Given the description of an element on the screen output the (x, y) to click on. 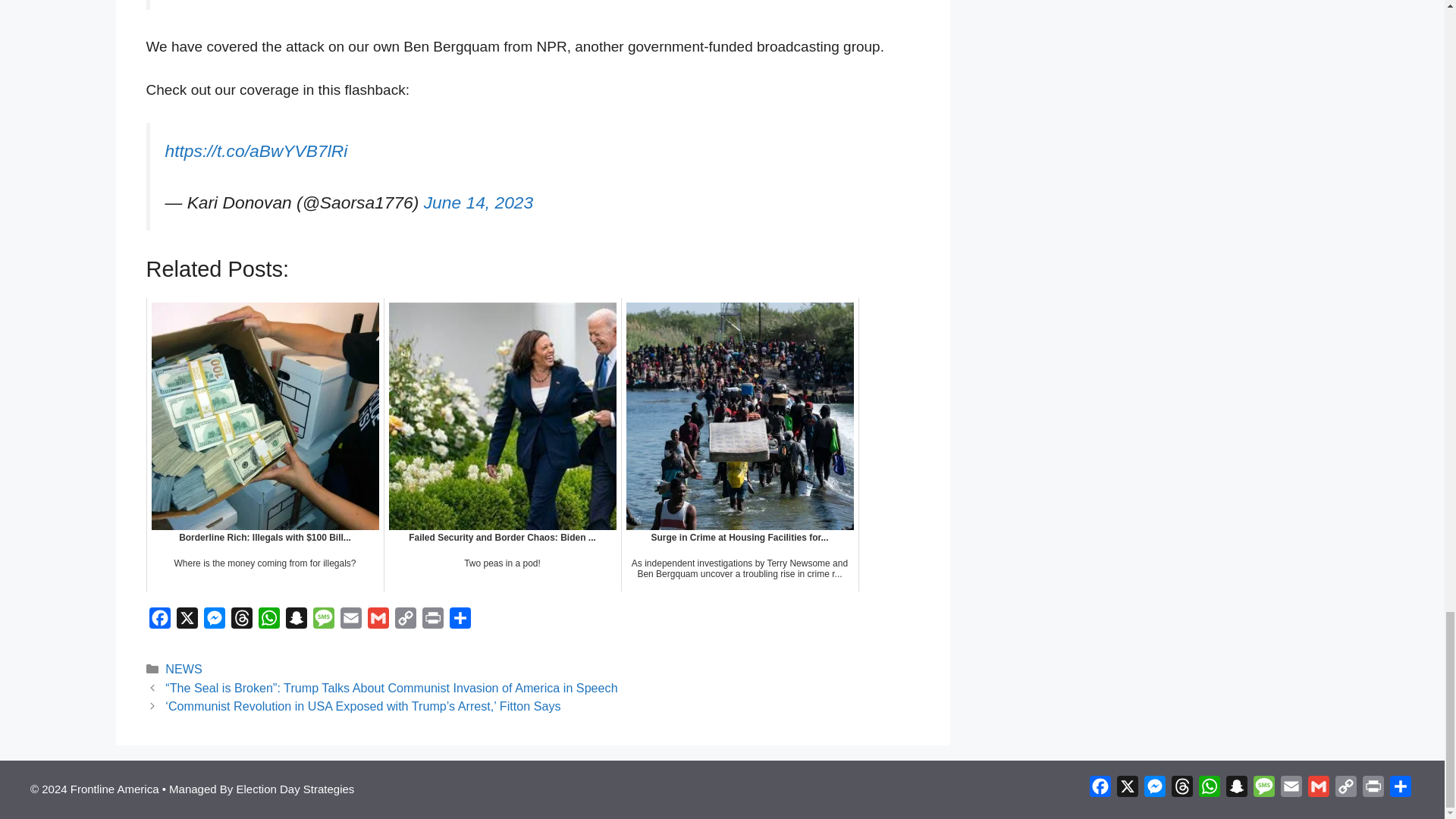
Snapchat (295, 621)
Messenger (213, 621)
WhatsApp (268, 621)
Messenger (213, 621)
X (186, 621)
Threads (240, 621)
June 14, 2023 (478, 202)
Facebook (159, 621)
Facebook (159, 621)
X (186, 621)
